Given the description of an element on the screen output the (x, y) to click on. 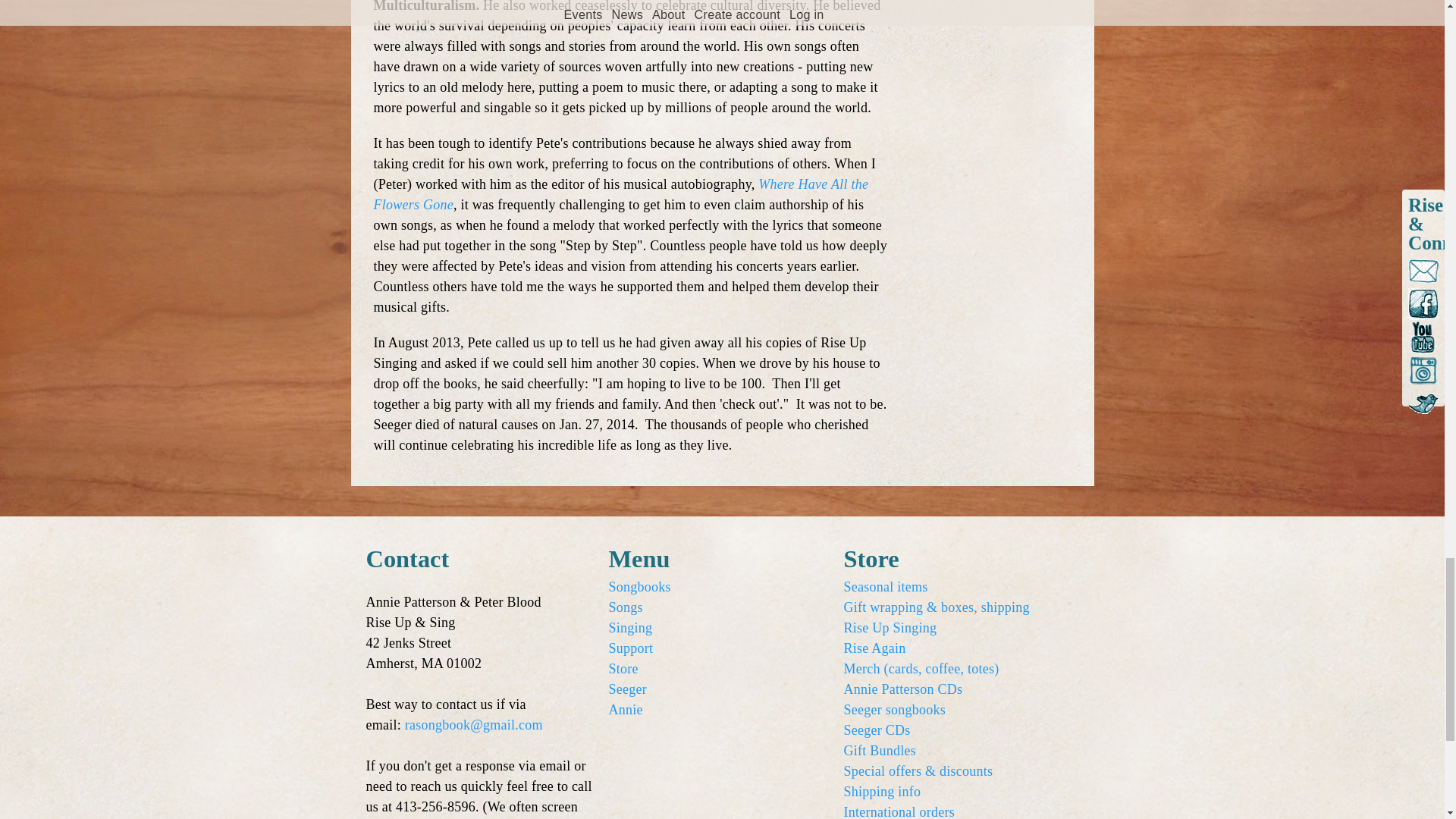
Where Have All the Flowers Gone (619, 193)
Song Resources (625, 607)
Group Singing (630, 627)
Our songbooks (638, 586)
